Given the description of an element on the screen output the (x, y) to click on. 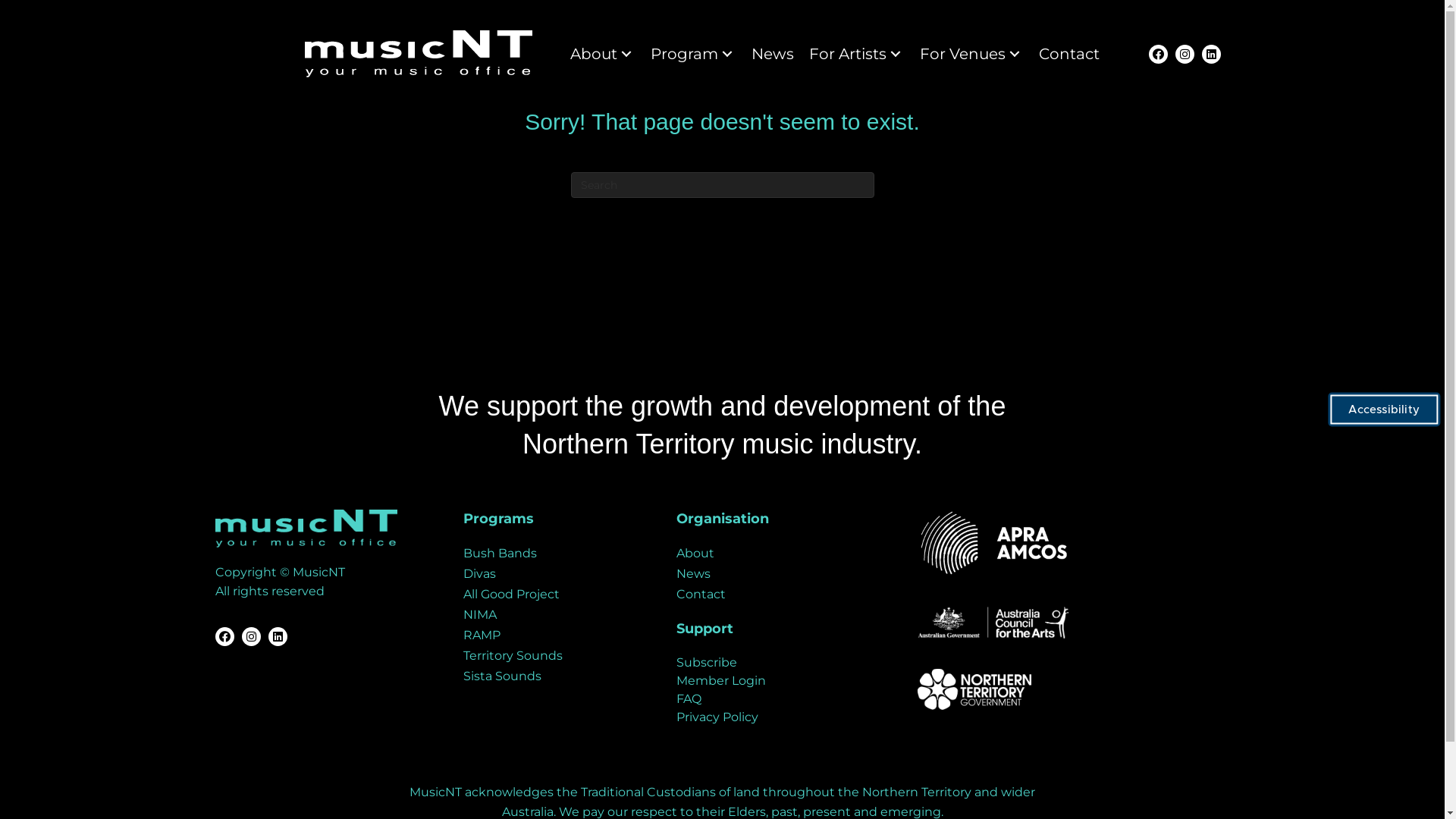
Instagram Element type: hover (1184, 52)
Bush Bands Element type: text (554, 553)
Privacy Policy Element type: text (717, 716)
Facebook Element type: hover (1157, 52)
LinkedIn Element type: hover (277, 636)
RAMP Element type: text (554, 635)
musicnt-logo_1 Element type: hover (418, 53)
Member Login Element type: text (720, 680)
Contact Element type: text (1069, 53)
apra-amcos-logo Element type: hover (993, 542)
Type and press Enter to search. Element type: hover (721, 184)
All Good Project Element type: text (554, 594)
Contact Element type: text (781, 594)
For Venues Element type: text (971, 53)
Subscribe Element type: text (706, 662)
About Element type: text (781, 553)
News Element type: text (781, 573)
LinkedIn Element type: hover (1210, 52)
About Element type: text (602, 53)
ozco Element type: hover (993, 622)
FAQ Element type: text (688, 698)
Sista Sounds Element type: text (554, 676)
For Artists Element type: text (856, 53)
Facebook Element type: hover (224, 636)
News Element type: text (772, 53)
NTG Element type: hover (974, 688)
Divas Element type: text (554, 573)
Instagram Element type: hover (250, 636)
NIMA Element type: text (554, 614)
Program Element type: text (693, 53)
Territory Sounds Element type: text (554, 655)
